Given the description of an element on the screen output the (x, y) to click on. 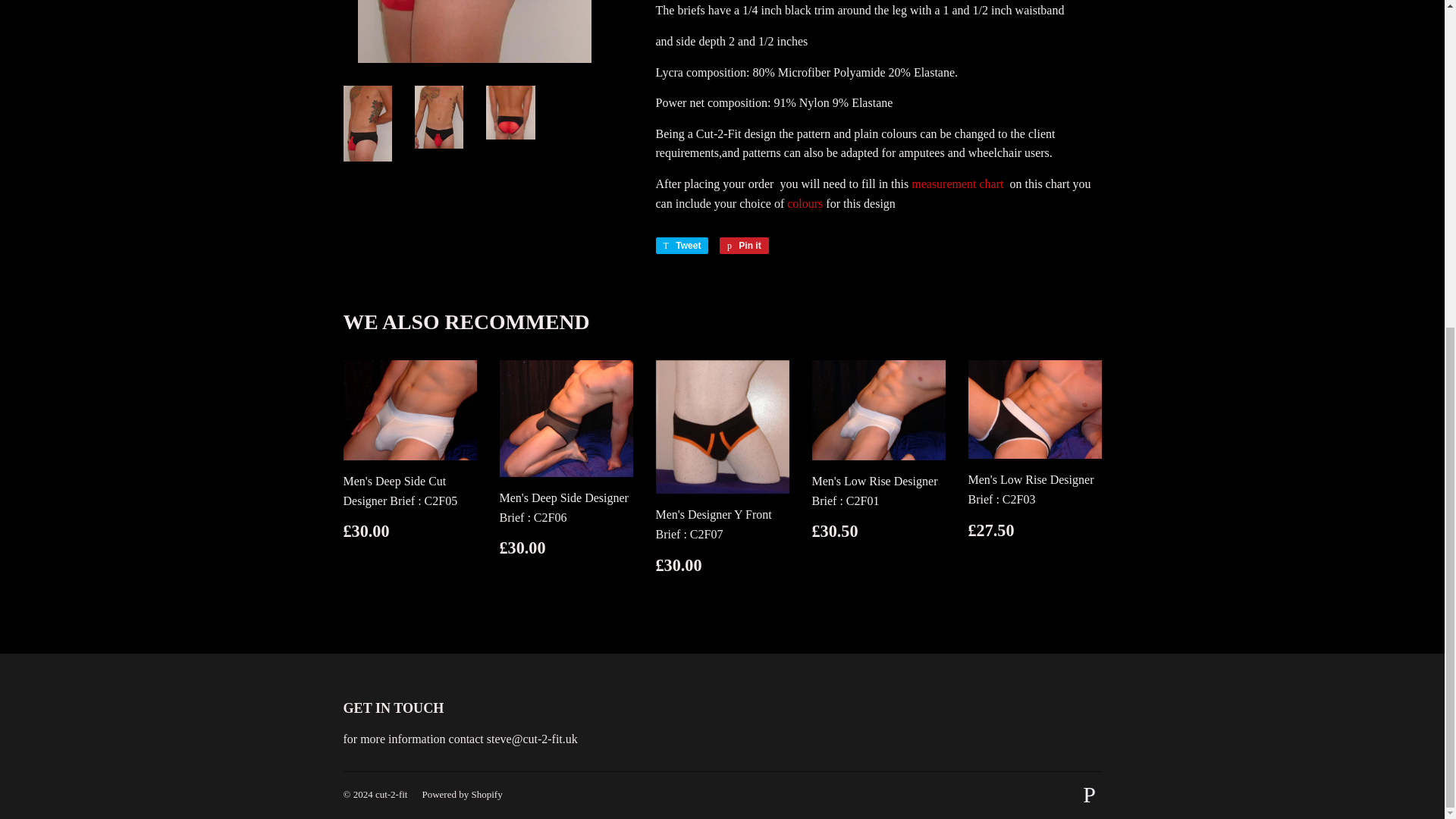
colour-chart-swimwear (804, 203)
Tweet (681, 245)
cut-2-fit measurement chart (957, 183)
measurement chart (957, 183)
Pin it (743, 245)
colours (804, 203)
